Given the description of an element on the screen output the (x, y) to click on. 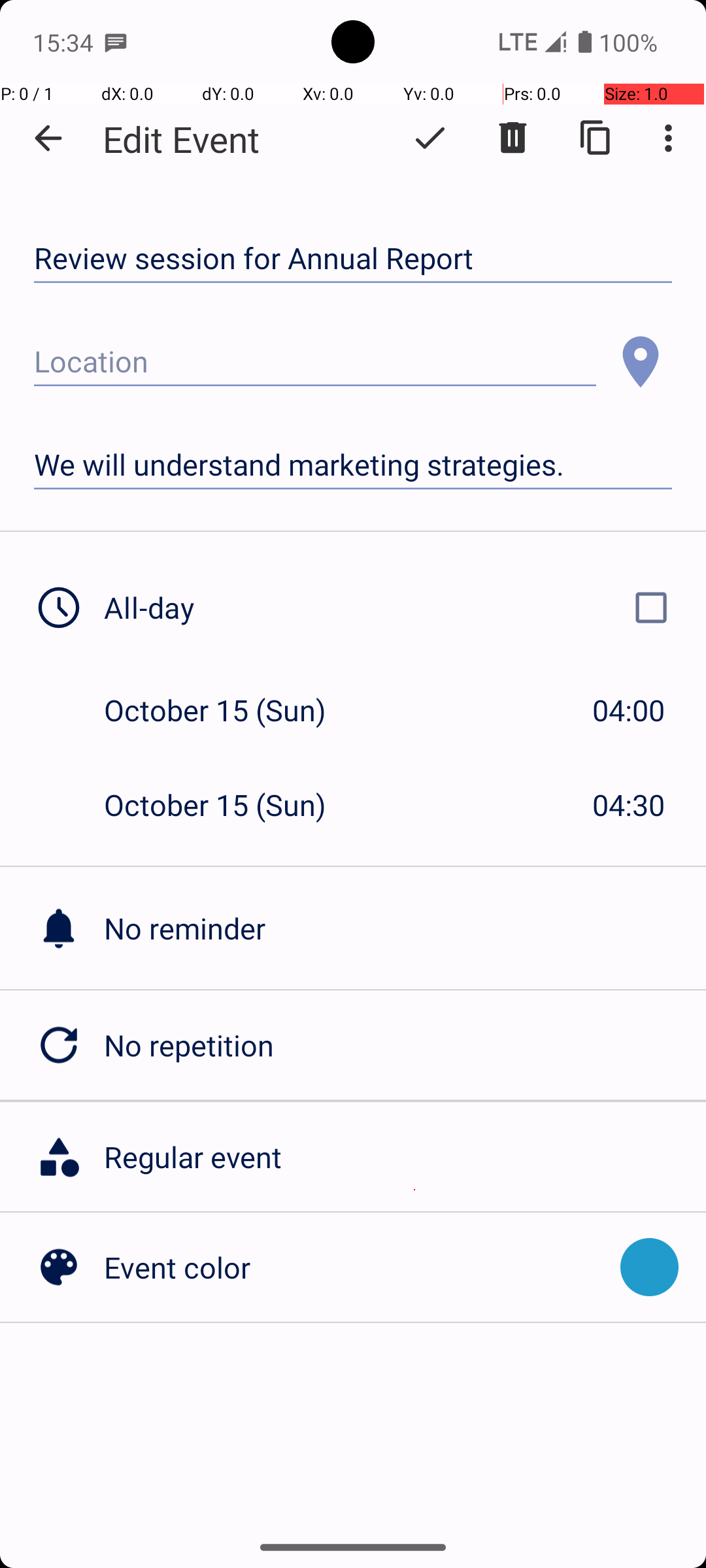
We will understand marketing strategies. Element type: android.widget.EditText (352, 465)
04:00 Element type: android.widget.TextView (628, 709)
04:30 Element type: android.widget.TextView (628, 804)
